Given the description of an element on the screen output the (x, y) to click on. 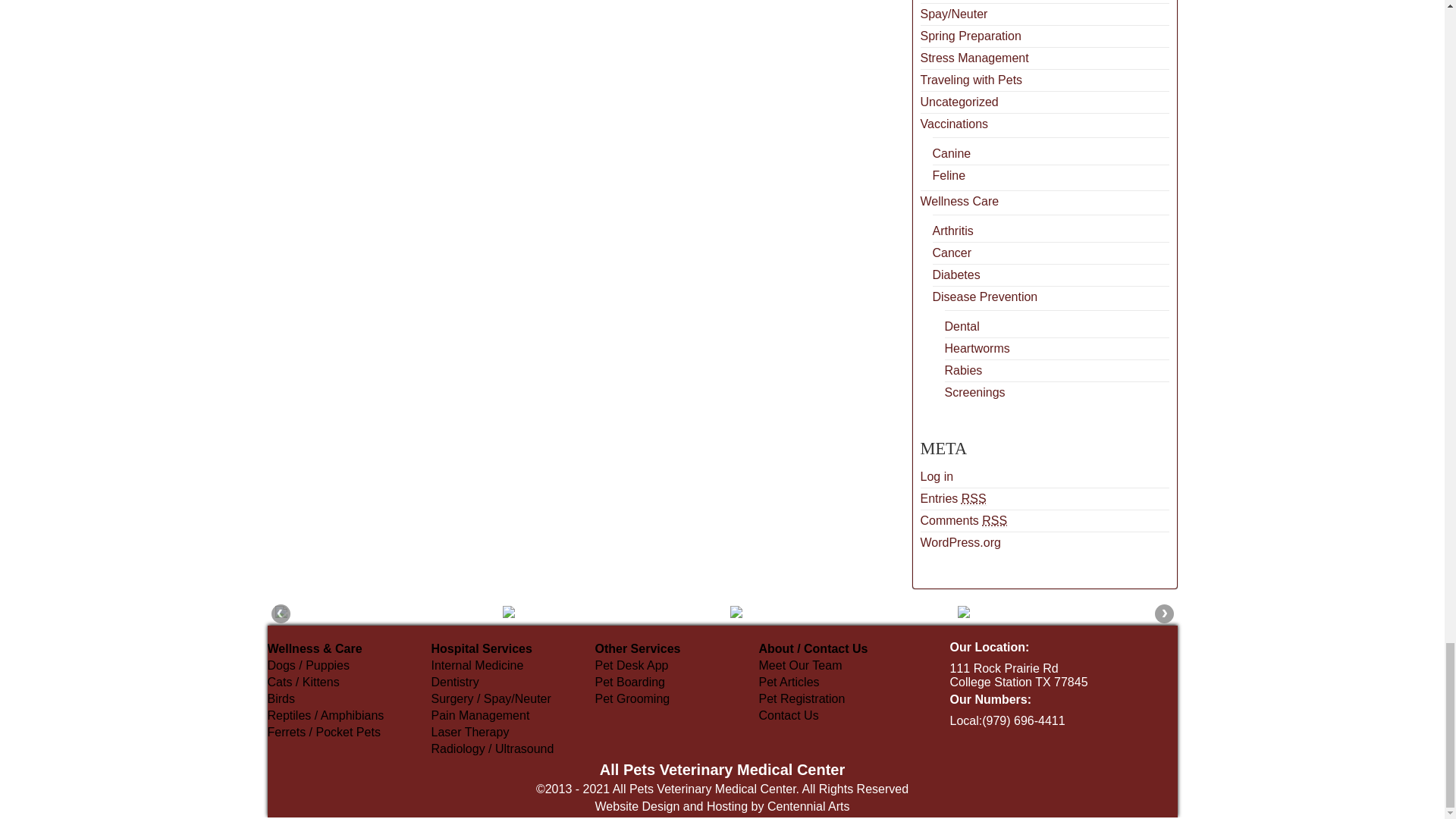
Really Simple Syndication (973, 499)
Really Simple Syndication (994, 520)
